Given the description of an element on the screen output the (x, y) to click on. 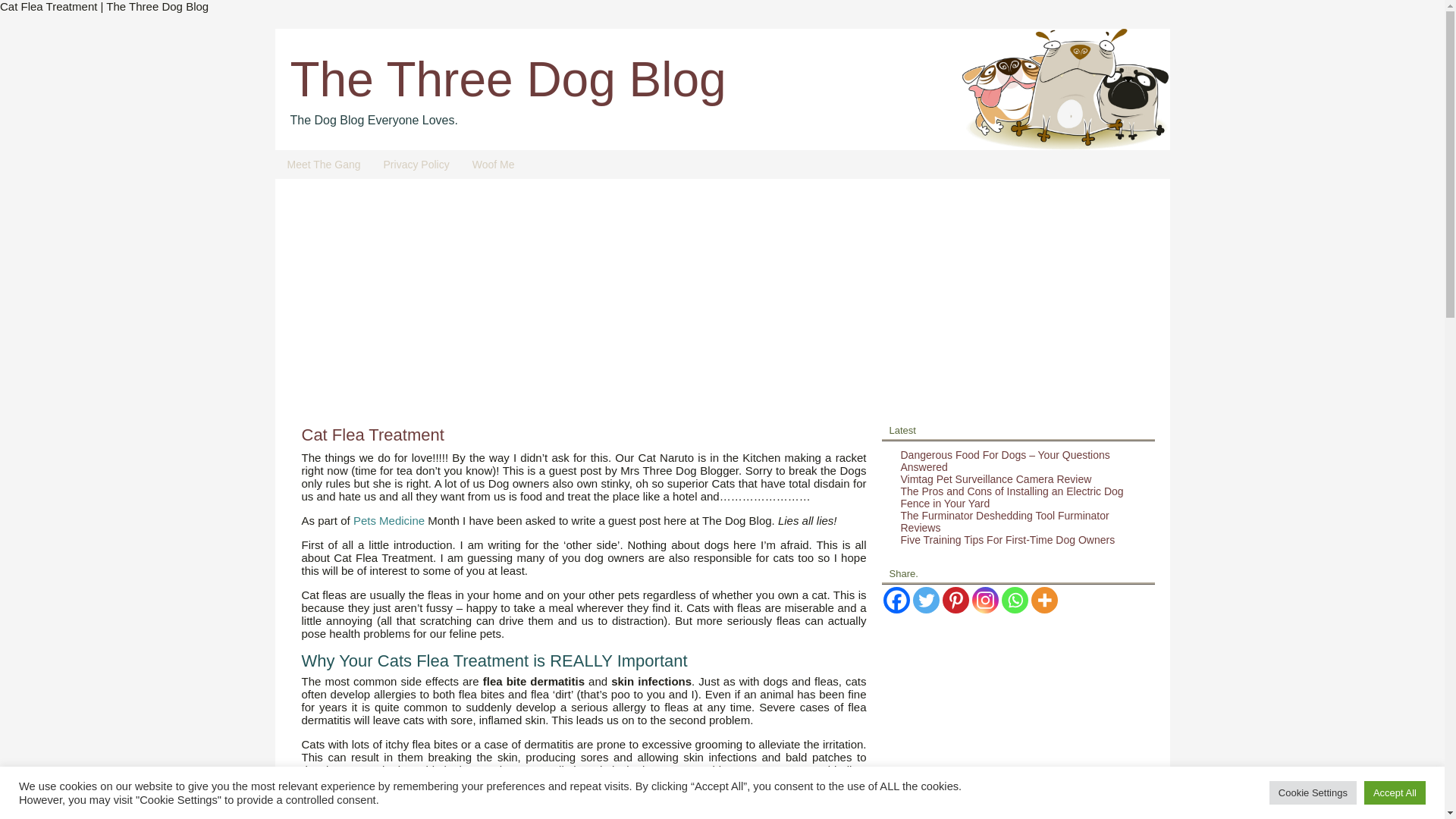
The Furminator Deshedding Tool Furminator Reviews (1005, 521)
Twitter (925, 600)
Cookie Settings (1312, 792)
Five Training Tips For First-Time Dog Owners (1008, 539)
The Three Dog Blog (507, 79)
Pets Medicine (389, 520)
Facebook (895, 600)
Pinterest (955, 600)
Privacy Policy (416, 164)
Vimtag Pet Surveillance Camera Review (996, 479)
Instagram (985, 600)
The Three Dog Blog (507, 79)
Meet The Gang (324, 164)
Woof Me (493, 164)
